Given the description of an element on the screen output the (x, y) to click on. 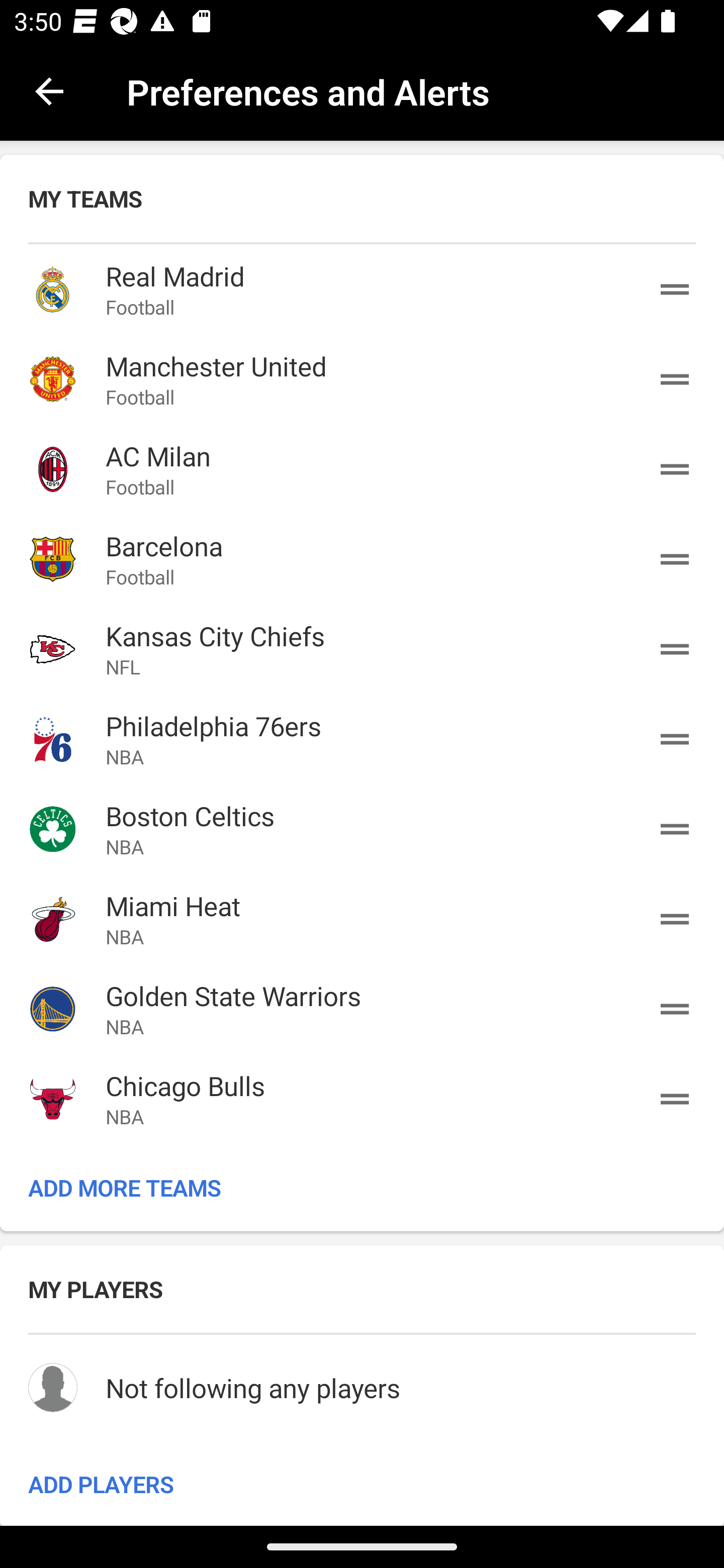
back.button (49, 90)
AC Milan AC Milan AC Milan Football Football (362, 469)
Barcelona Barcelona Barcelona Football Football (362, 558)
Miami Heat Miami Heat Miami Heat NBA NBA (362, 918)
Chicago Bulls Chicago Bulls Chicago Bulls NBA NBA (362, 1098)
ADD MORE TEAMS (362, 1186)
ADD PLAYERS (362, 1482)
